Given the description of an element on the screen output the (x, y) to click on. 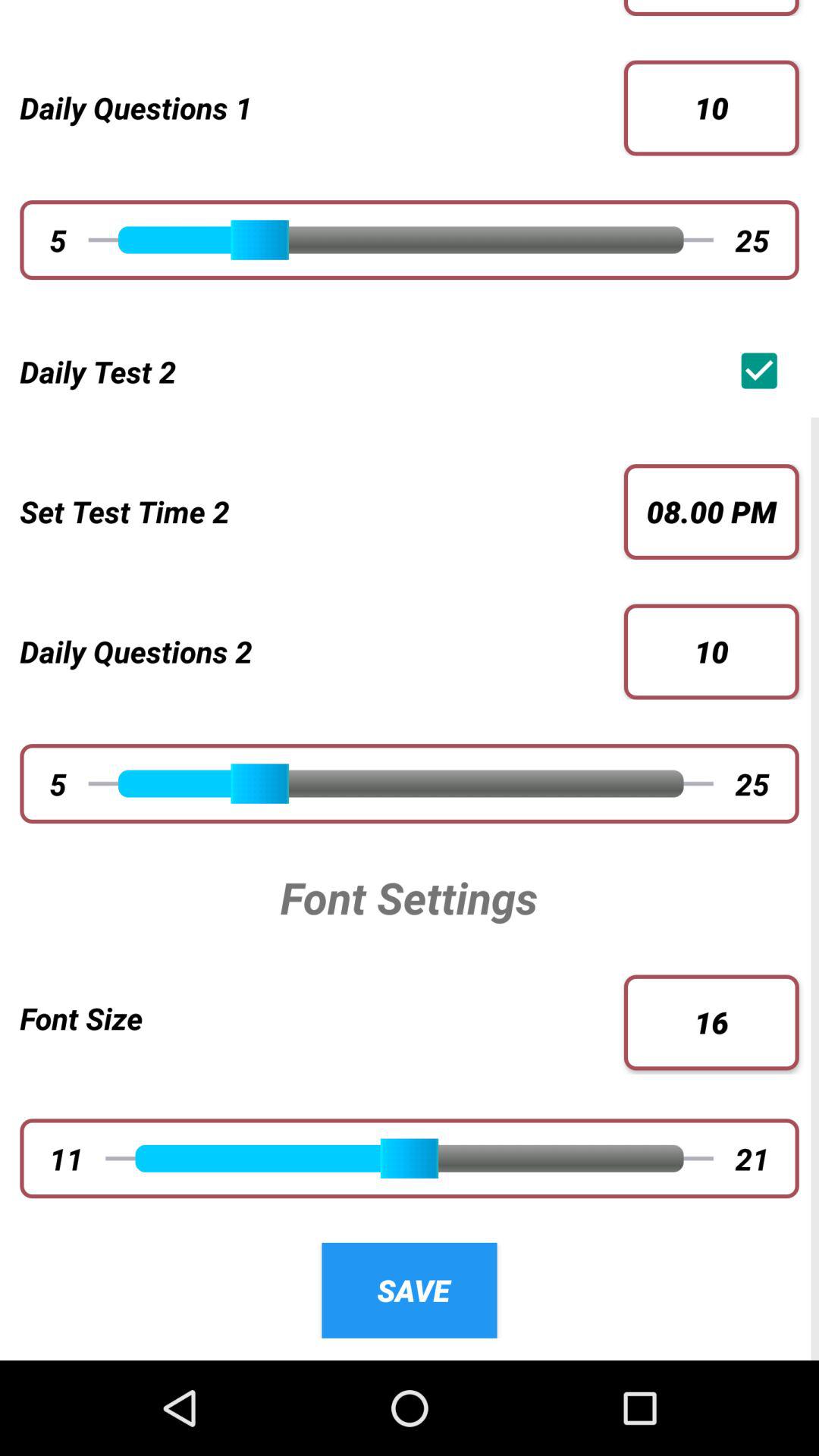
turn on item below the 16 (752, 1158)
